Given the description of an element on the screen output the (x, y) to click on. 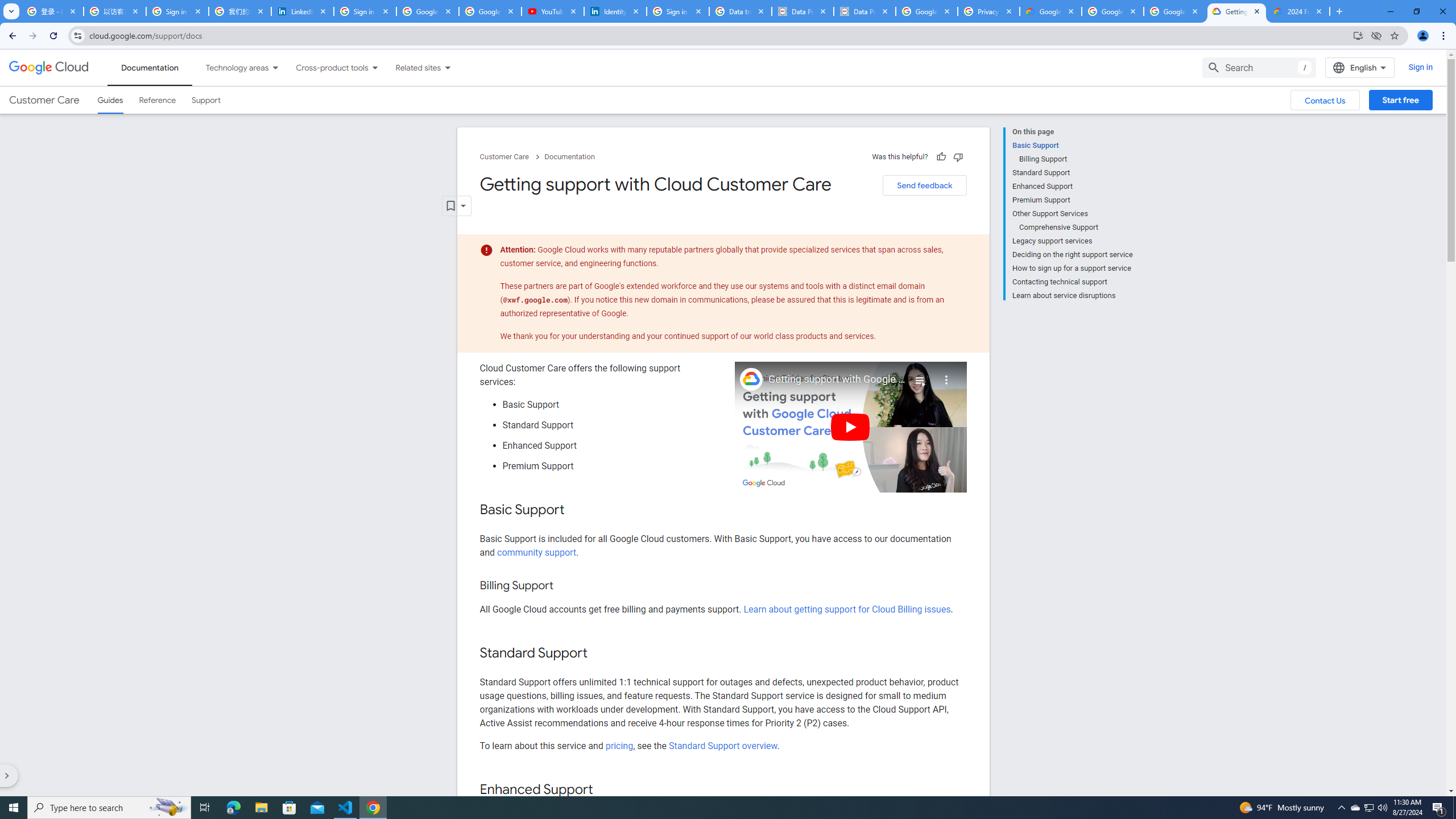
Documentation (569, 156)
Helpful (940, 156)
Standard Support (1071, 172)
Install Google Cloud (1358, 35)
Not helpful (957, 156)
Copy link to this section: Enhanced Support (603, 789)
Related sites (411, 67)
